Given the description of an element on the screen output the (x, y) to click on. 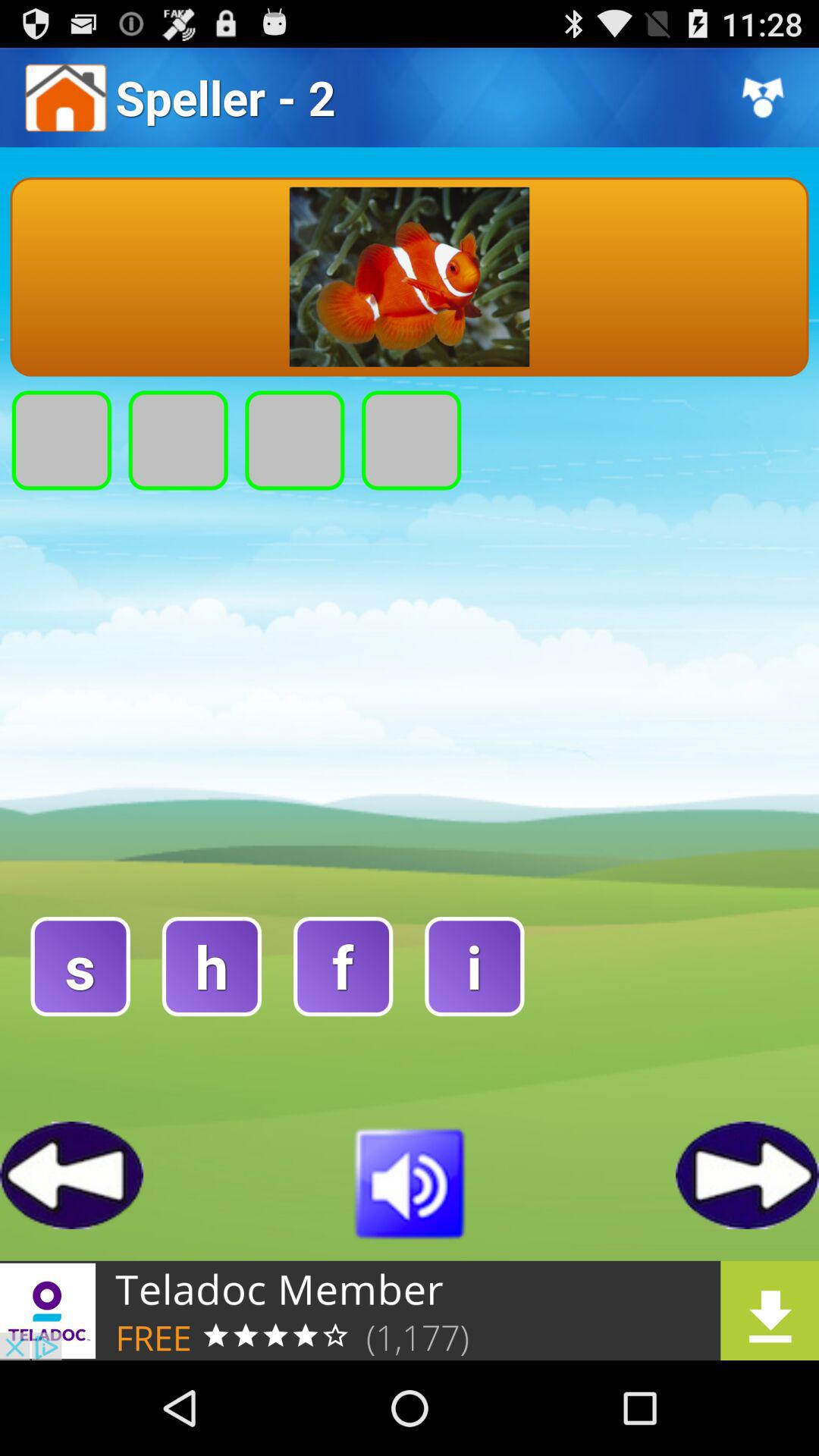
go to play (409, 1181)
